Given the description of an element on the screen output the (x, y) to click on. 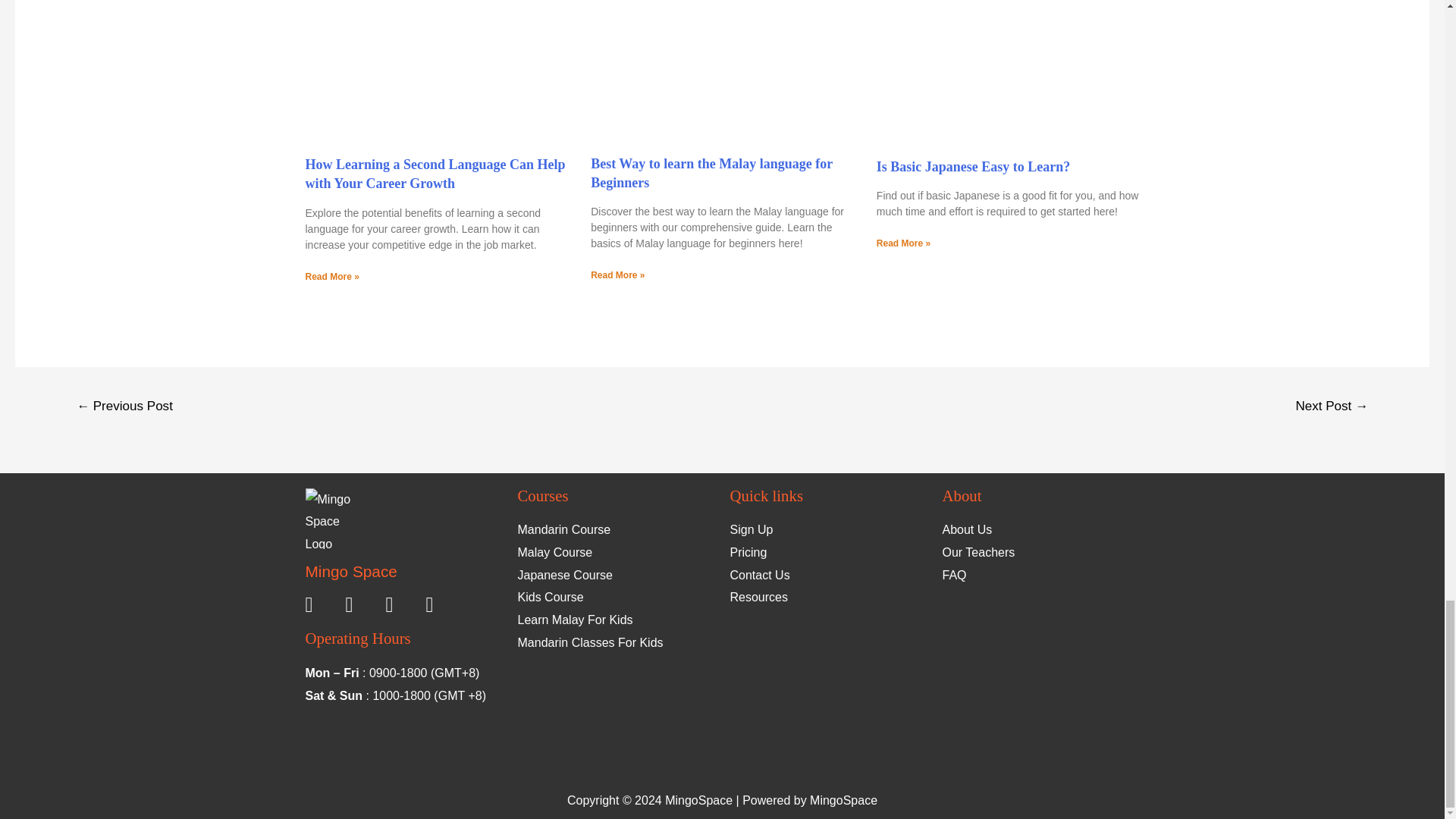
Best Way to learn the Malay language for Beginners (711, 173)
Is Basic Japanese Easy to Learn? (973, 166)
